Given the description of an element on the screen output the (x, y) to click on. 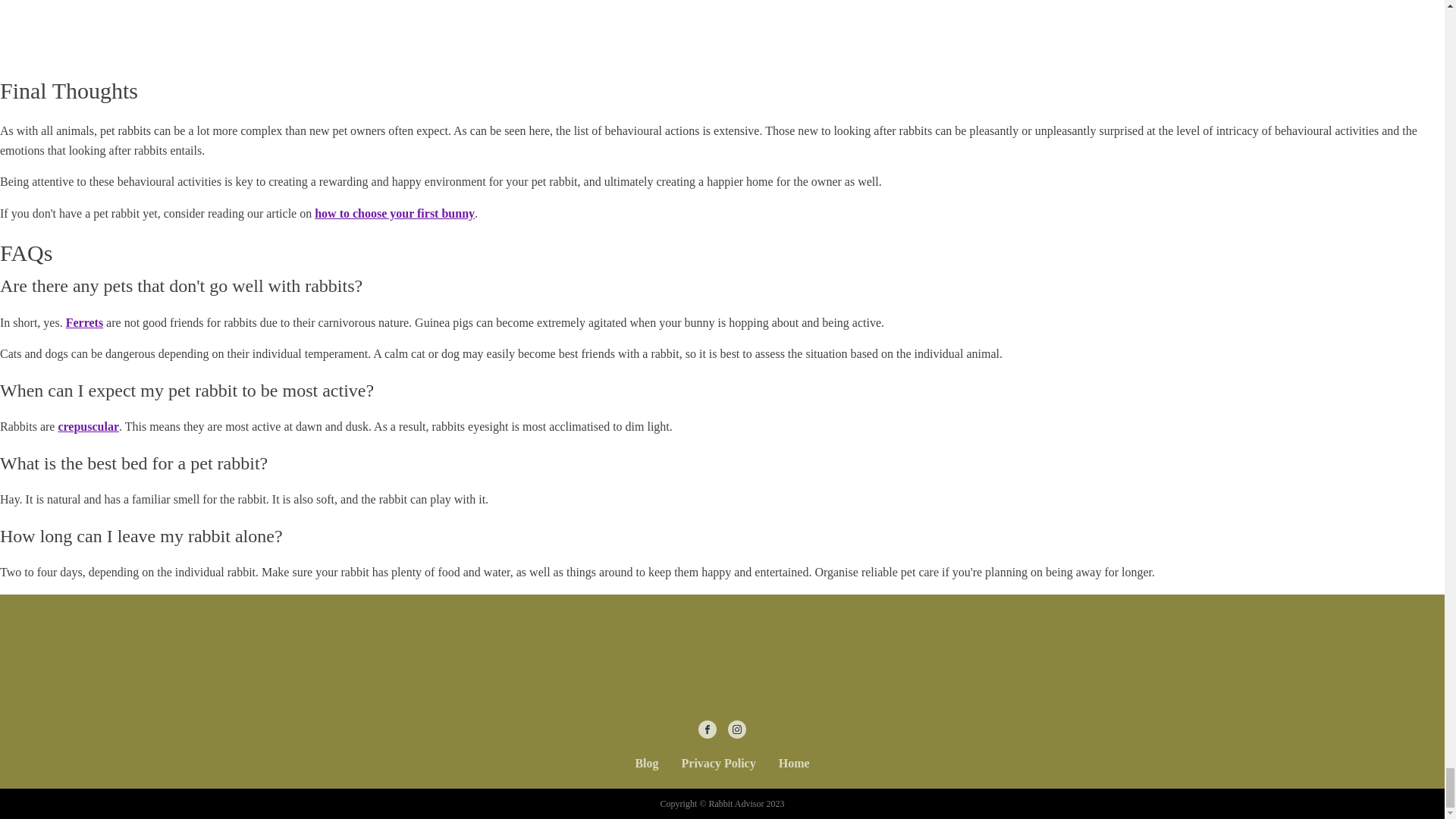
how to choose your first bunny (394, 213)
Bunny happy noises - honking and clucking (189, 27)
Blog (646, 763)
Ferrets (84, 322)
crepuscular (88, 426)
Privacy Policy (718, 763)
Home (794, 763)
